Given the description of an element on the screen output the (x, y) to click on. 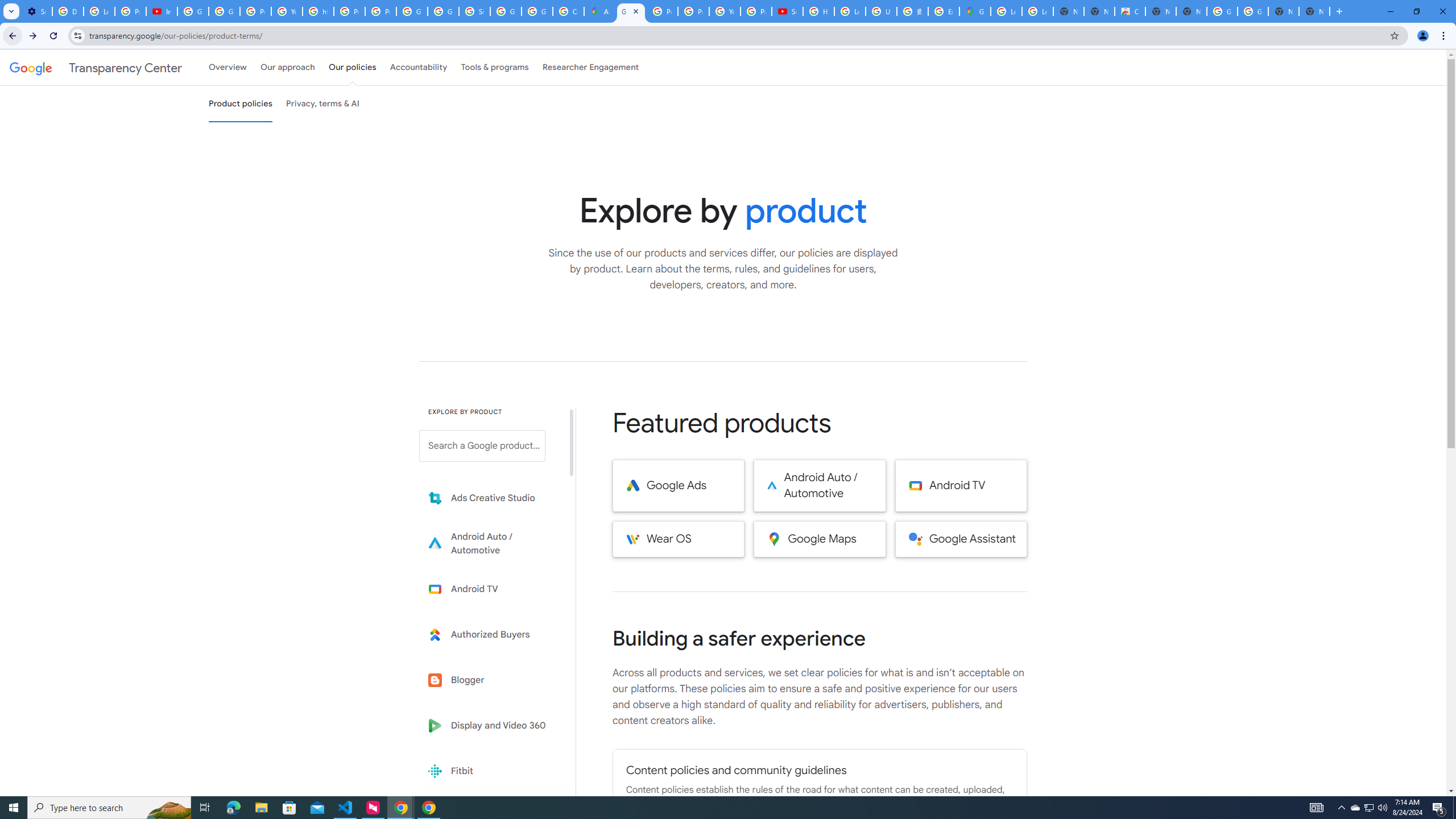
Privacy Help Center - Policies Help (662, 11)
Privacy Help Center - Policies Help (693, 11)
Learn more about Authorized Buyers (490, 634)
How Chrome protects your passwords - Google Chrome Help (818, 11)
Privacy, terms & AI (322, 103)
Google Maps (820, 538)
Transparency Center (95, 67)
Learn more about Authorized Buyers (490, 634)
